Given the description of an element on the screen output the (x, y) to click on. 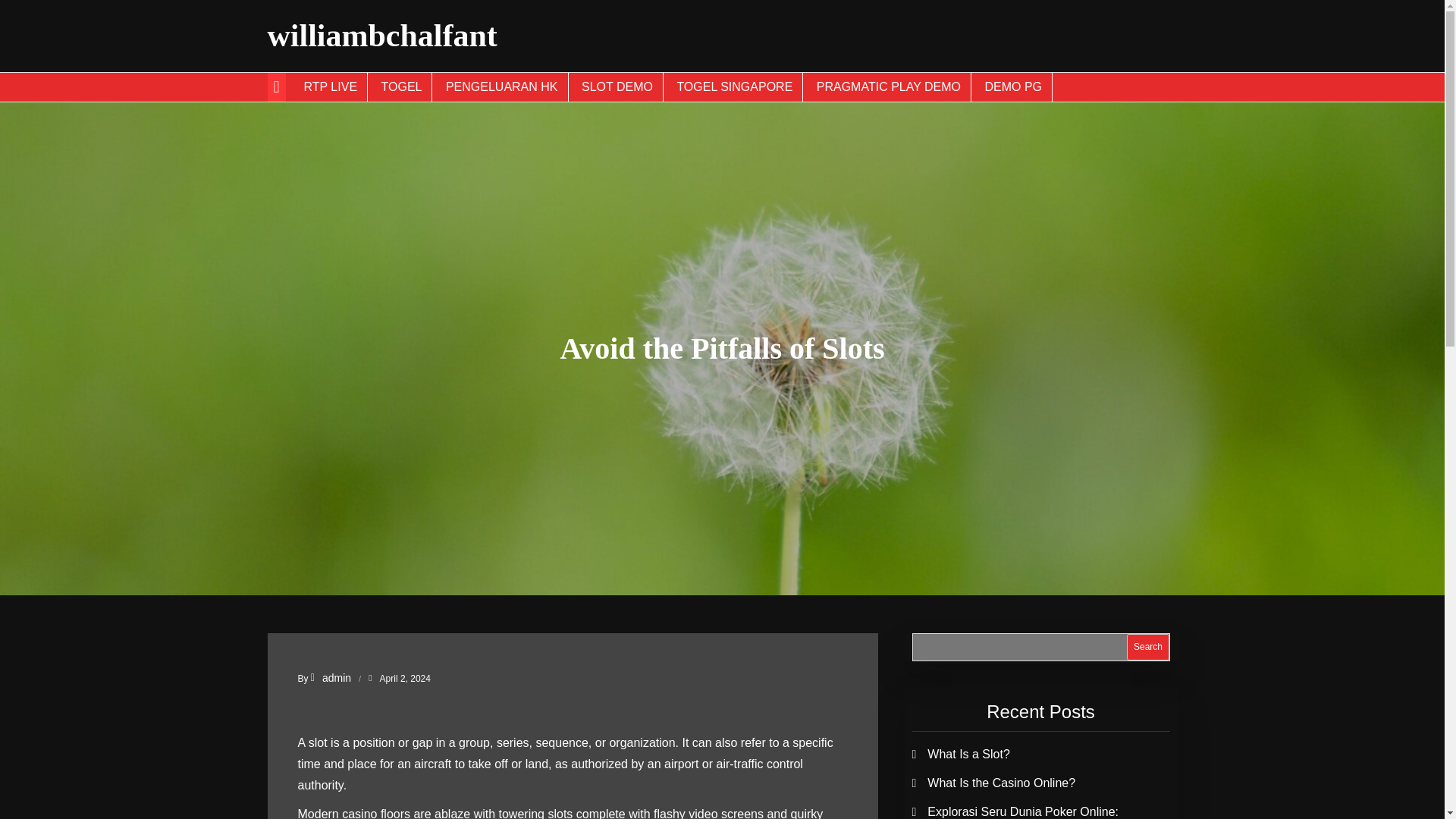
Search (1147, 646)
SLOT DEMO (617, 86)
What Is the Casino Online? (1001, 782)
admin (330, 677)
TOGEL (401, 86)
RTP LIVE (331, 86)
PENGELUARAN HK (502, 86)
PRAGMATIC PLAY DEMO (888, 86)
williambchalfant (381, 35)
TOGEL SINGAPORE (734, 86)
What Is a Slot? (968, 753)
DEMO PG (1013, 86)
